Given the description of an element on the screen output the (x, y) to click on. 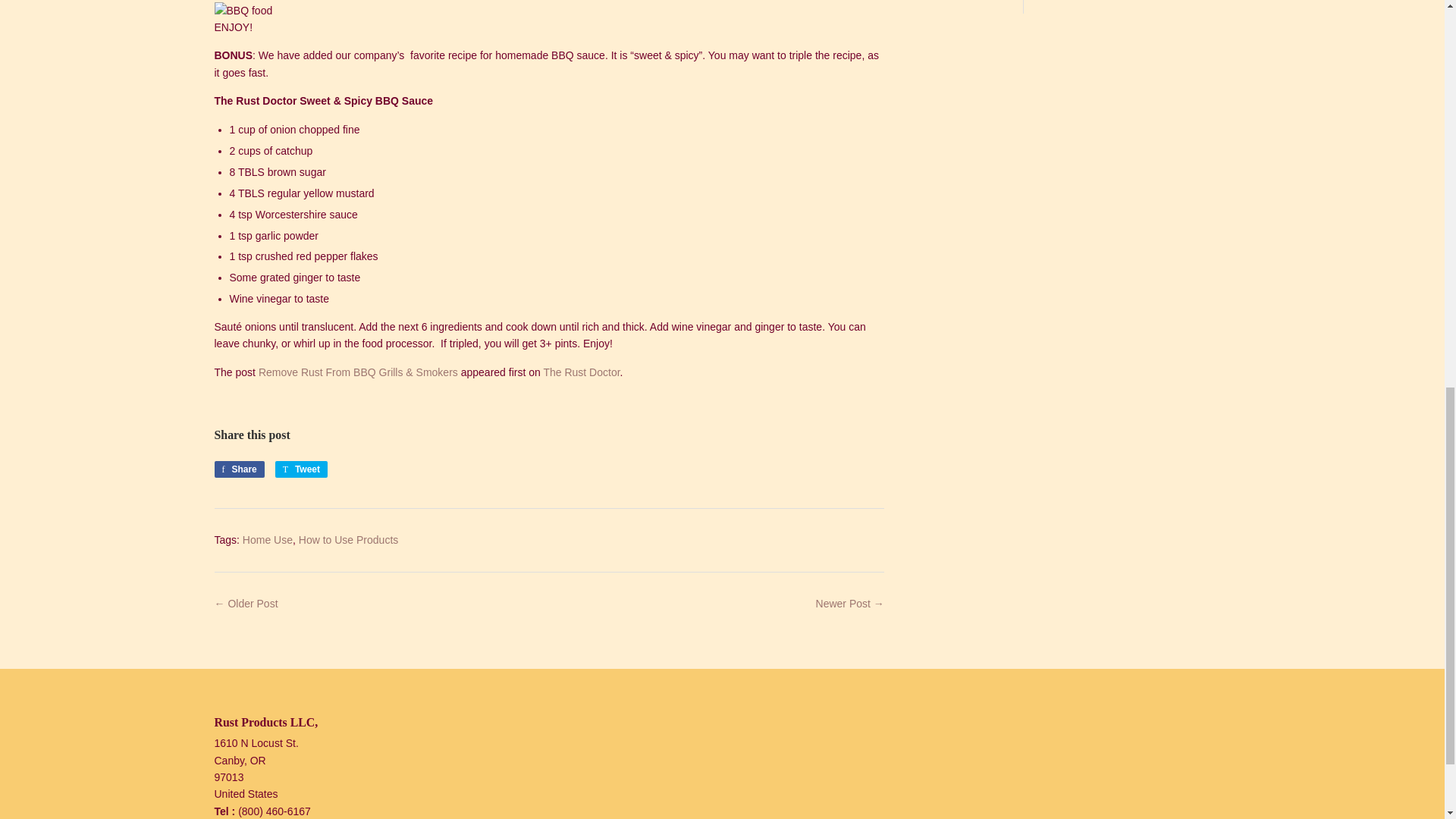
Share on Facebook (238, 469)
Tweet on Twitter (301, 469)
